Given the description of an element on the screen output the (x, y) to click on. 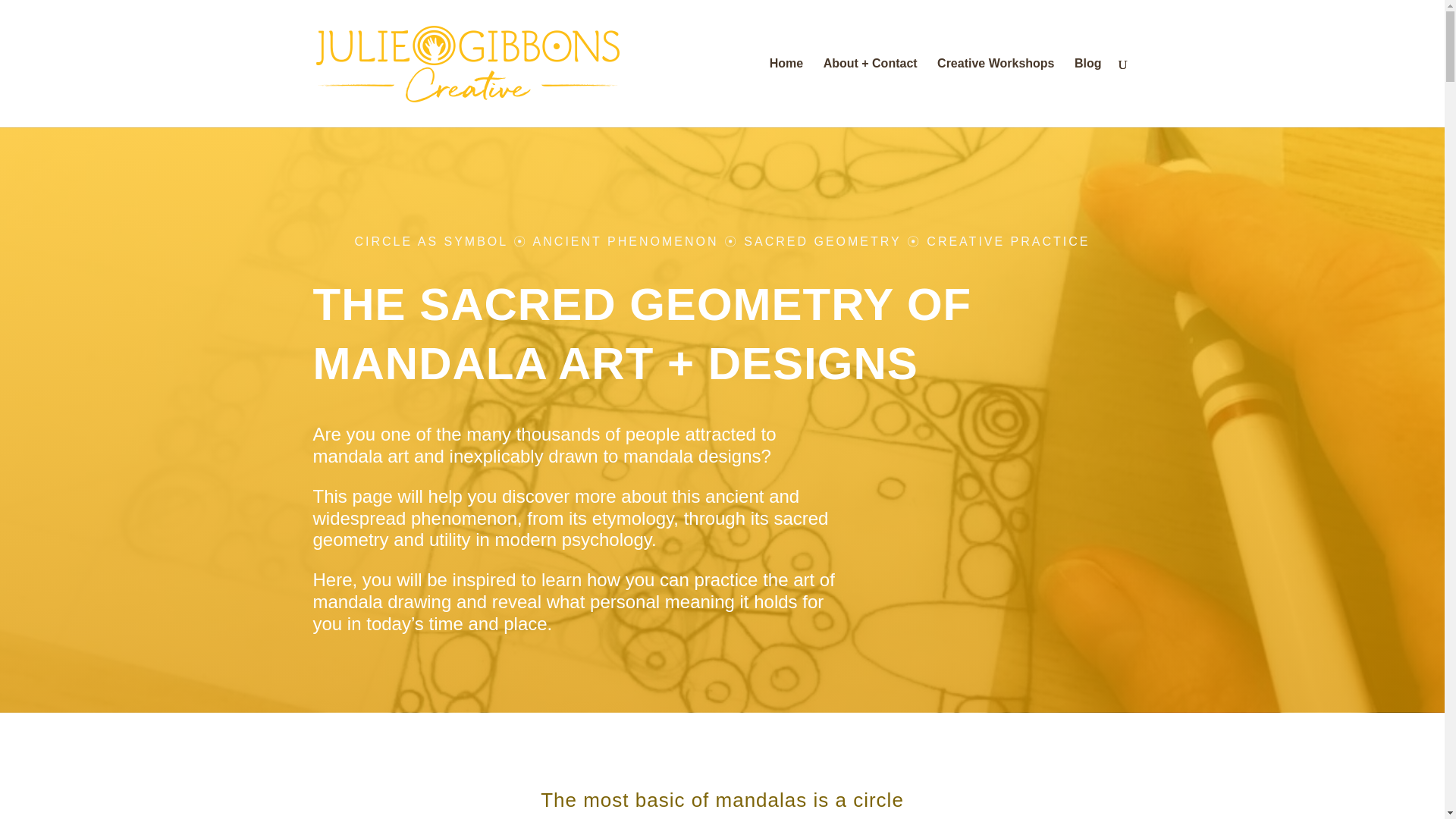
Creative Workshops (995, 92)
